Given the description of an element on the screen output the (x, y) to click on. 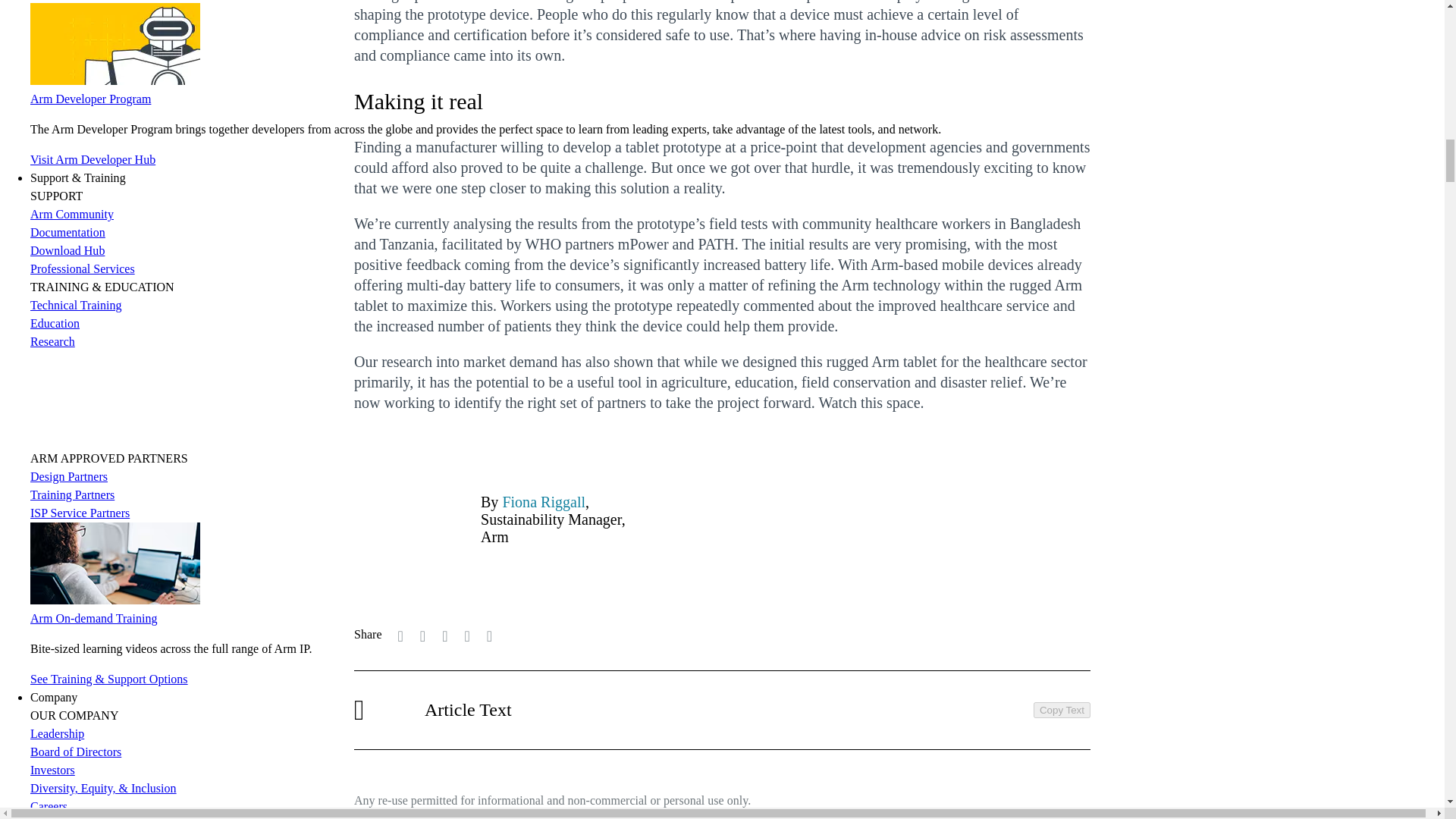
LinkedIn (422, 635)
Email (466, 635)
Facebook (444, 635)
Fiona Riggall (543, 501)
Twitter (400, 635)
Copy Link (489, 635)
